Given the description of an element on the screen output the (x, y) to click on. 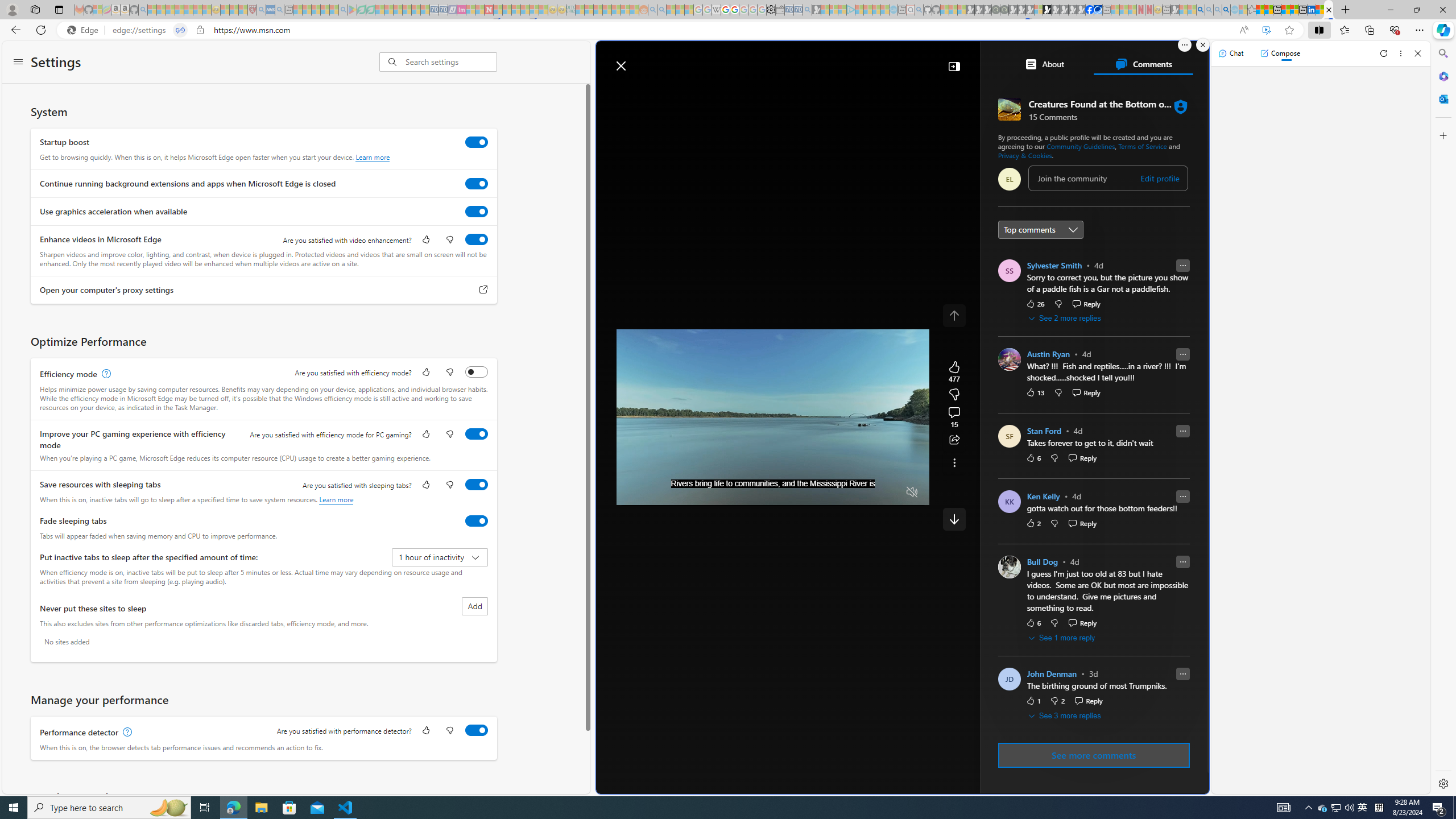
1 Like (1032, 700)
Sylvester Smith (1053, 265)
Progress Bar (772, 477)
